Given the description of an element on the screen output the (x, y) to click on. 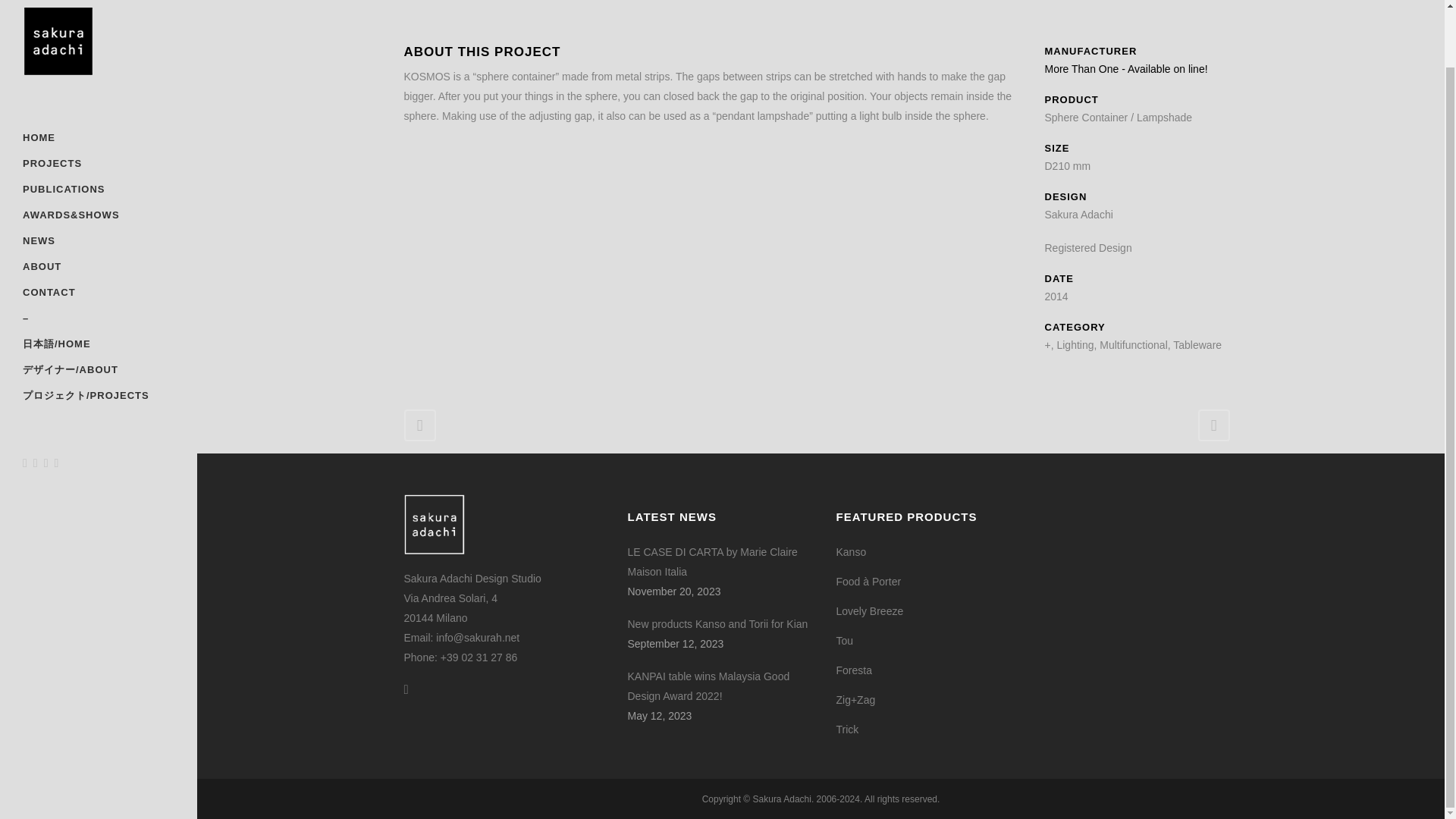
PROJECTS (98, 101)
NEWS (98, 178)
ABOUT (98, 204)
PUBLICATIONS (98, 127)
CONTACT (98, 230)
HOME (98, 75)
